Given the description of an element on the screen output the (x, y) to click on. 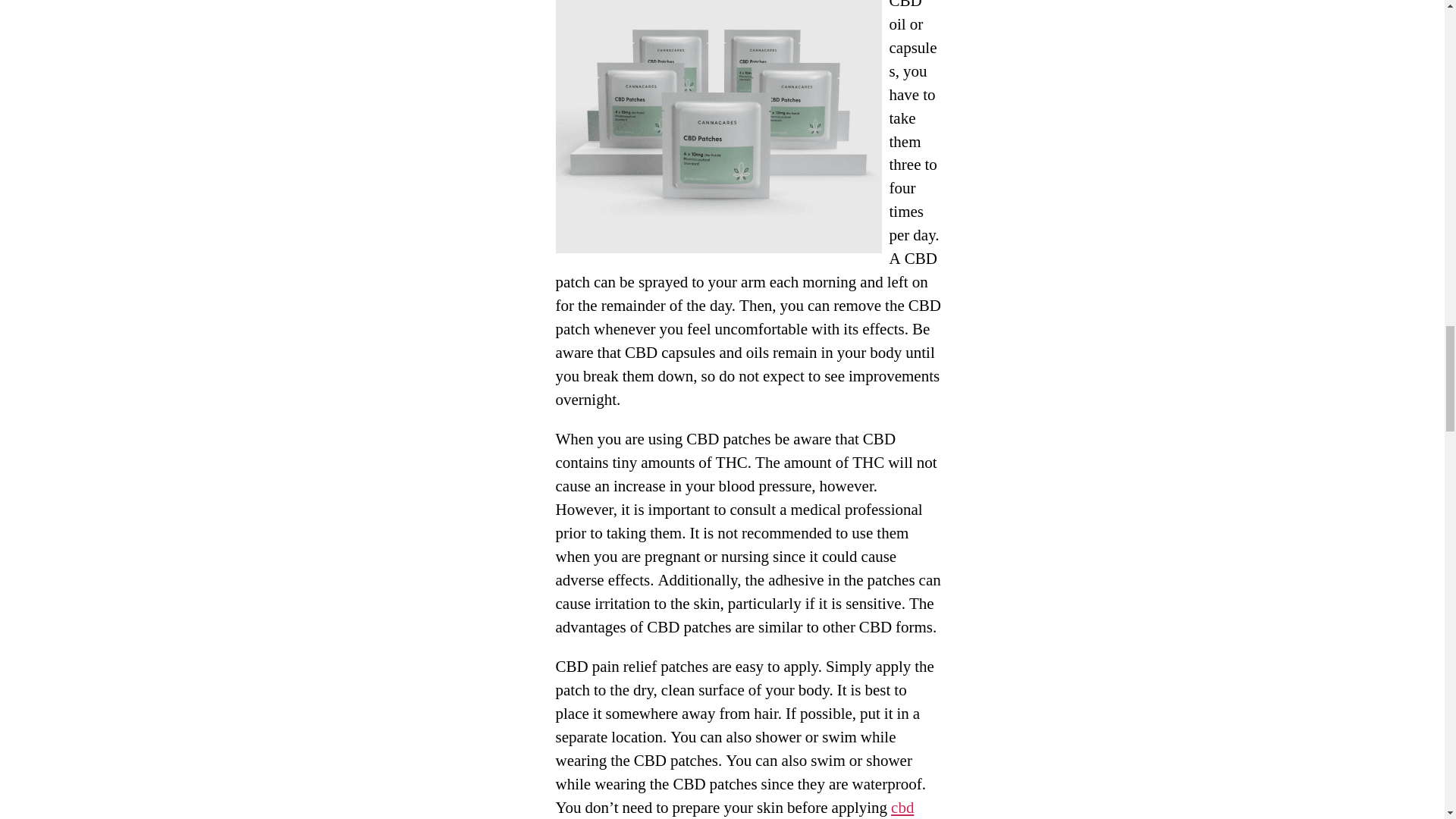
cbd patches for back pain (734, 808)
